Given the description of an element on the screen output the (x, y) to click on. 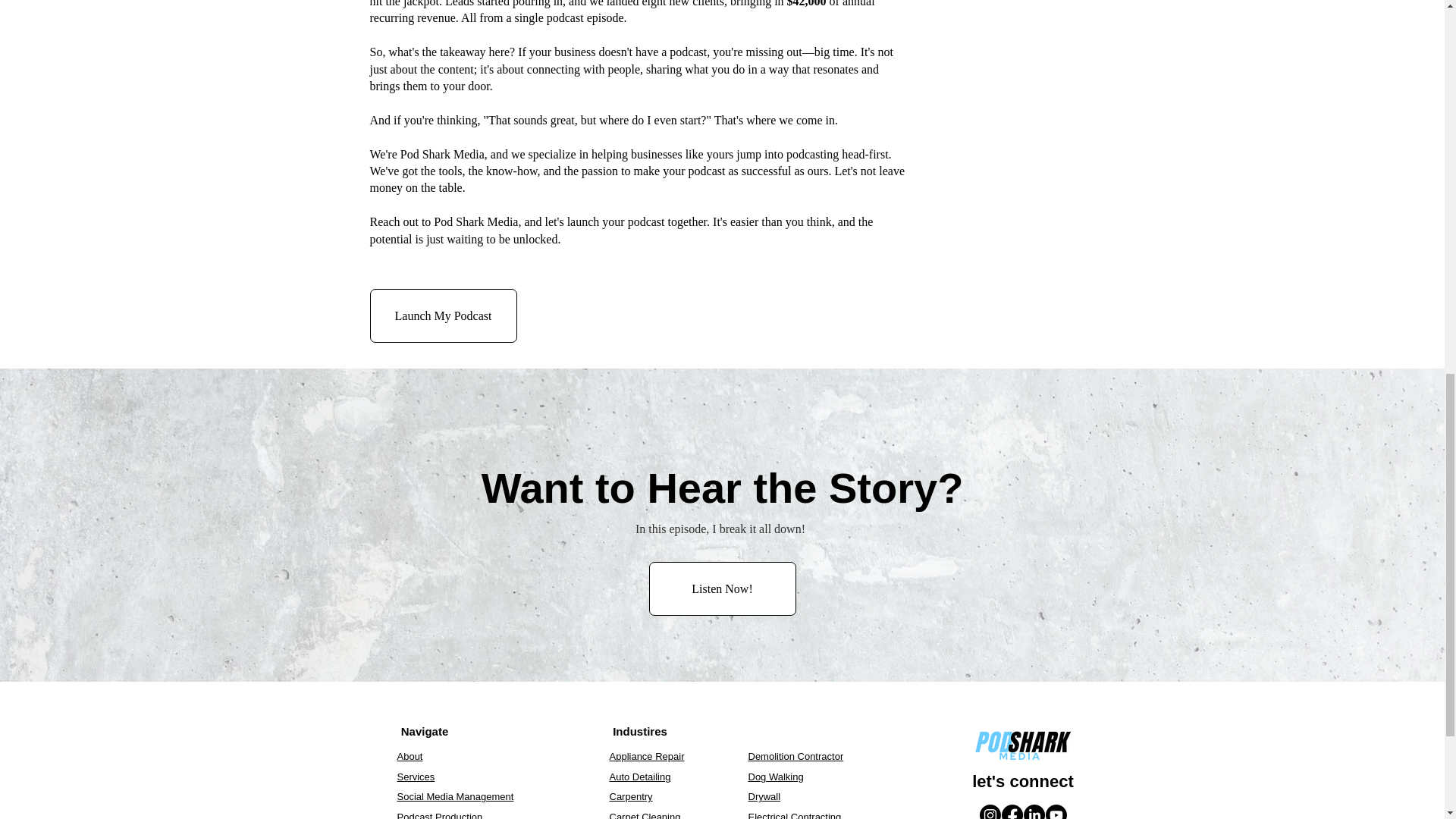
Launch My Podcast (442, 316)
Carpentry (631, 796)
Electrical Contracting (794, 815)
Services (416, 776)
Podcast Production (440, 815)
Social Media Management (455, 796)
Dog Walking (775, 776)
Carpet Cleaning (645, 815)
Auto Detailing (640, 776)
Appliance Repair (647, 756)
